Given the description of an element on the screen output the (x, y) to click on. 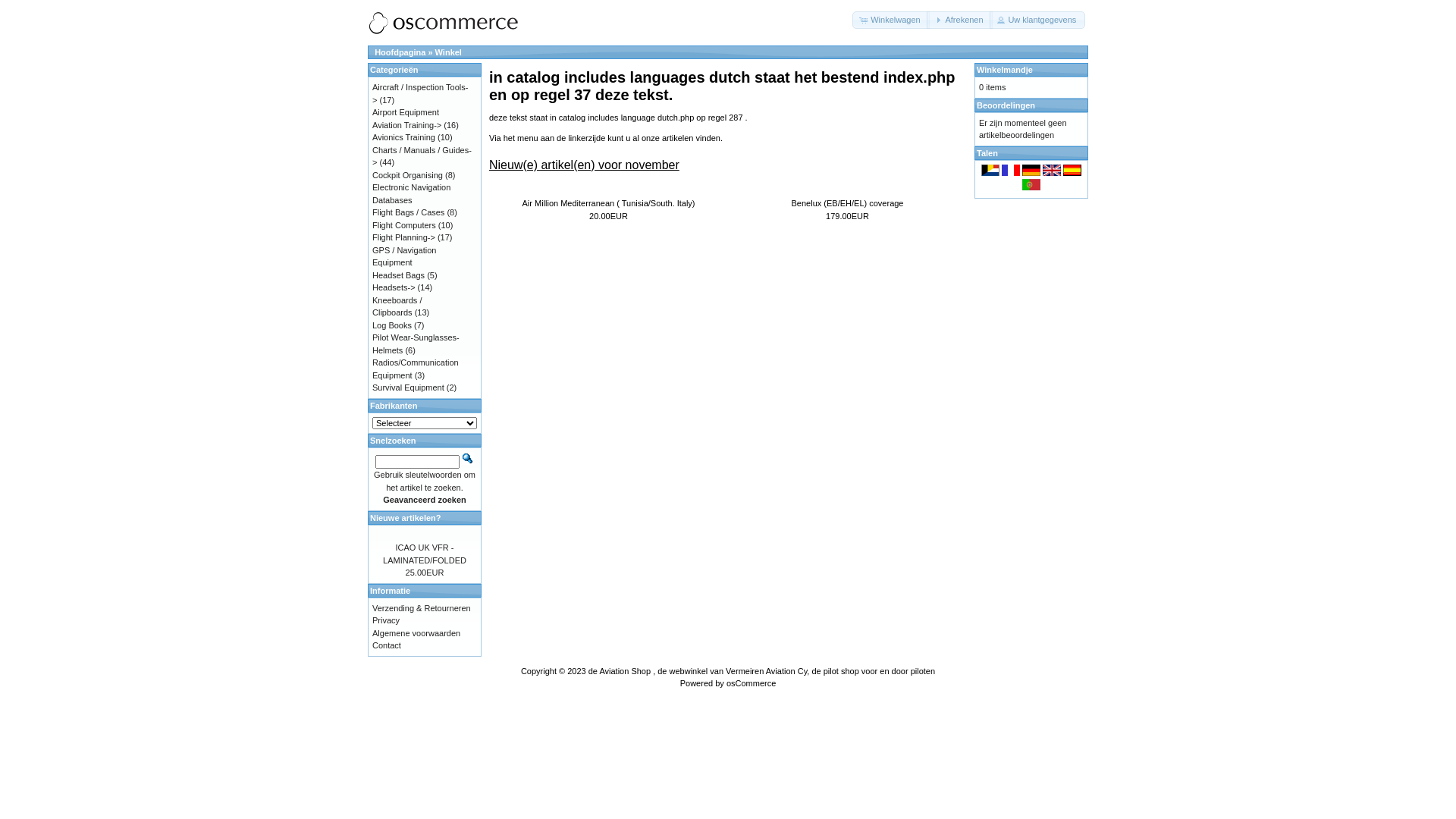
Aviation Training-> Element type: text (406, 123)
Cockpit Organising Element type: text (407, 173)
Benelux (EB/EH/EL) coverage Element type: text (847, 202)
Charts / Manuals / Guides-> Element type: text (421, 156)
Winkelwagen Element type: text (890, 19)
Radios/Communication Equipment Element type: text (415, 368)
Flight Bags / Cases Element type: text (408, 211)
Headset Bags Element type: text (398, 274)
GPS / Navigation Equipment Element type: text (404, 256)
Verzending & Retourneren Element type: text (421, 607)
Kneeboards / Clipboards Element type: text (396, 306)
Portugees Element type: hover (1031, 184)
Nieuwe artikelen? Element type: text (405, 516)
Geavanceerd zoeken Element type: text (423, 499)
Uw klantgegevens Element type: text (1037, 19)
Survival Equipment Element type: text (408, 387)
Electronic Navigation Databases Element type: text (411, 193)
Privacy Element type: text (385, 619)
 Snelzoeken  Element type: hover (467, 457)
Airport Equipment Element type: text (405, 111)
Winkel Element type: text (448, 51)
Log Books Element type: text (391, 324)
Afrekenen Element type: text (958, 19)
osCommerce Element type: text (750, 682)
Air Million Mediterranean ( Tunisia/South. Italy) Element type: text (607, 202)
Winkelmandje Element type: text (1004, 69)
Flight Planning-> Element type: text (403, 236)
Nederlands Element type: hover (990, 169)
Aircraft / Inspection Tools-> Element type: text (419, 93)
Headsets-> Element type: text (393, 286)
English Element type: hover (1051, 169)
Avionics Training Element type: text (403, 136)
Contact Element type: text (386, 644)
ICAO UK VFR - LAMINATED/FOLDED Element type: text (424, 553)
Flight Computers Element type: text (404, 224)
Pilot Wear-Sunglasses-Helmets Element type: text (415, 343)
Algemene voorwaarden Element type: text (416, 632)
Hoofdpagina Element type: text (399, 51)
Deutsch Element type: hover (1031, 169)
Beoordelingen Element type: text (1005, 104)
